Given the description of an element on the screen output the (x, y) to click on. 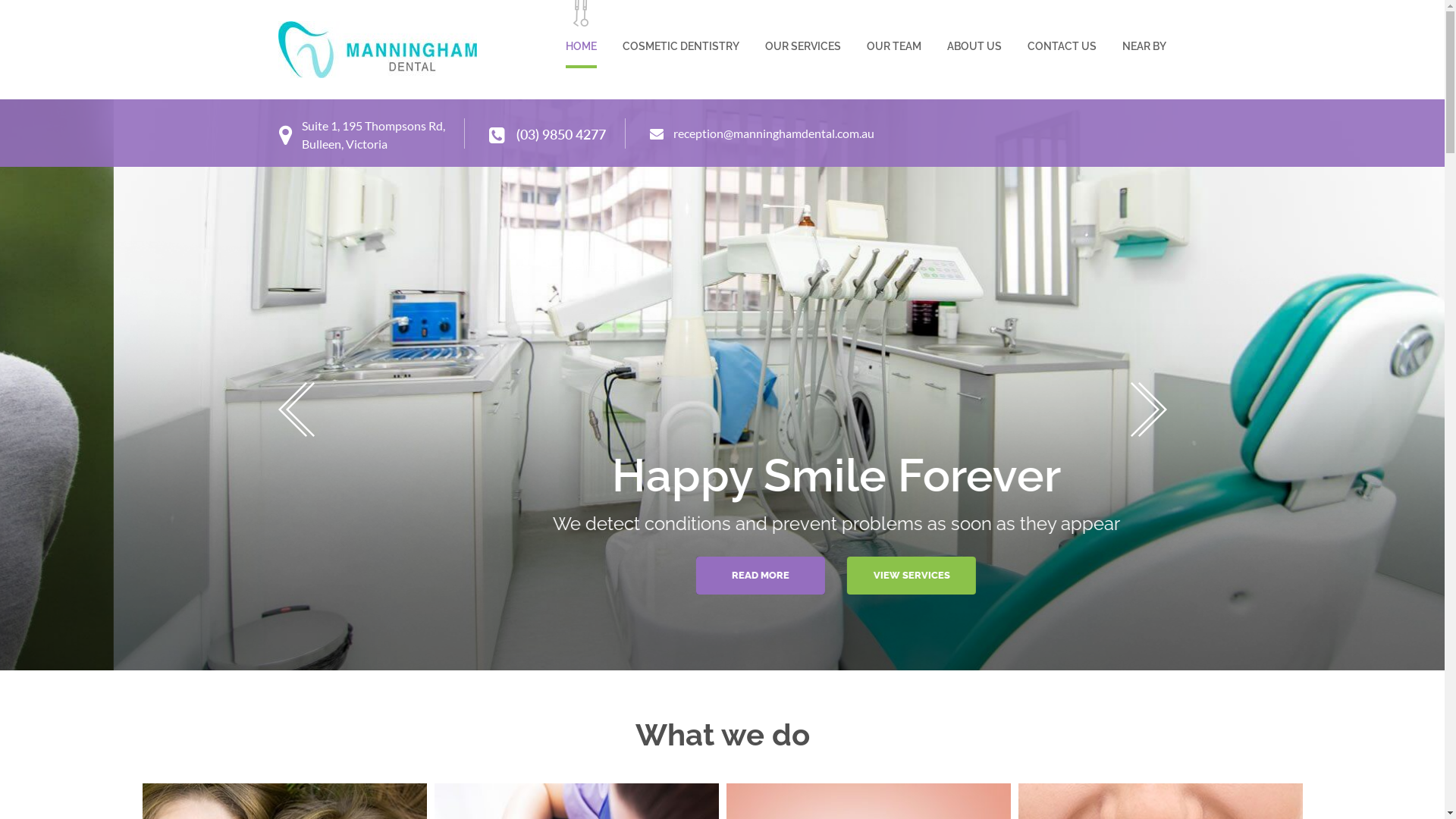
READ MORE Element type: text (646, 575)
NEAR BY Element type: text (1144, 32)
reception@manninghamdental.com.au Element type: text (761, 130)
VIEW SERVICES Element type: text (797, 575)
Manningham-Dental Element type: hover (376, 49)
(03) 9850 4277 Element type: text (546, 130)
HOME Element type: text (580, 34)
OUR SERVICES Element type: text (802, 32)
OUR TEAM Element type: text (893, 32)
CONTACT US Element type: text (1060, 32)
ABOUT US Element type: text (973, 32)
COSMETIC DENTISTRY Element type: text (679, 32)
